Given the description of an element on the screen output the (x, y) to click on. 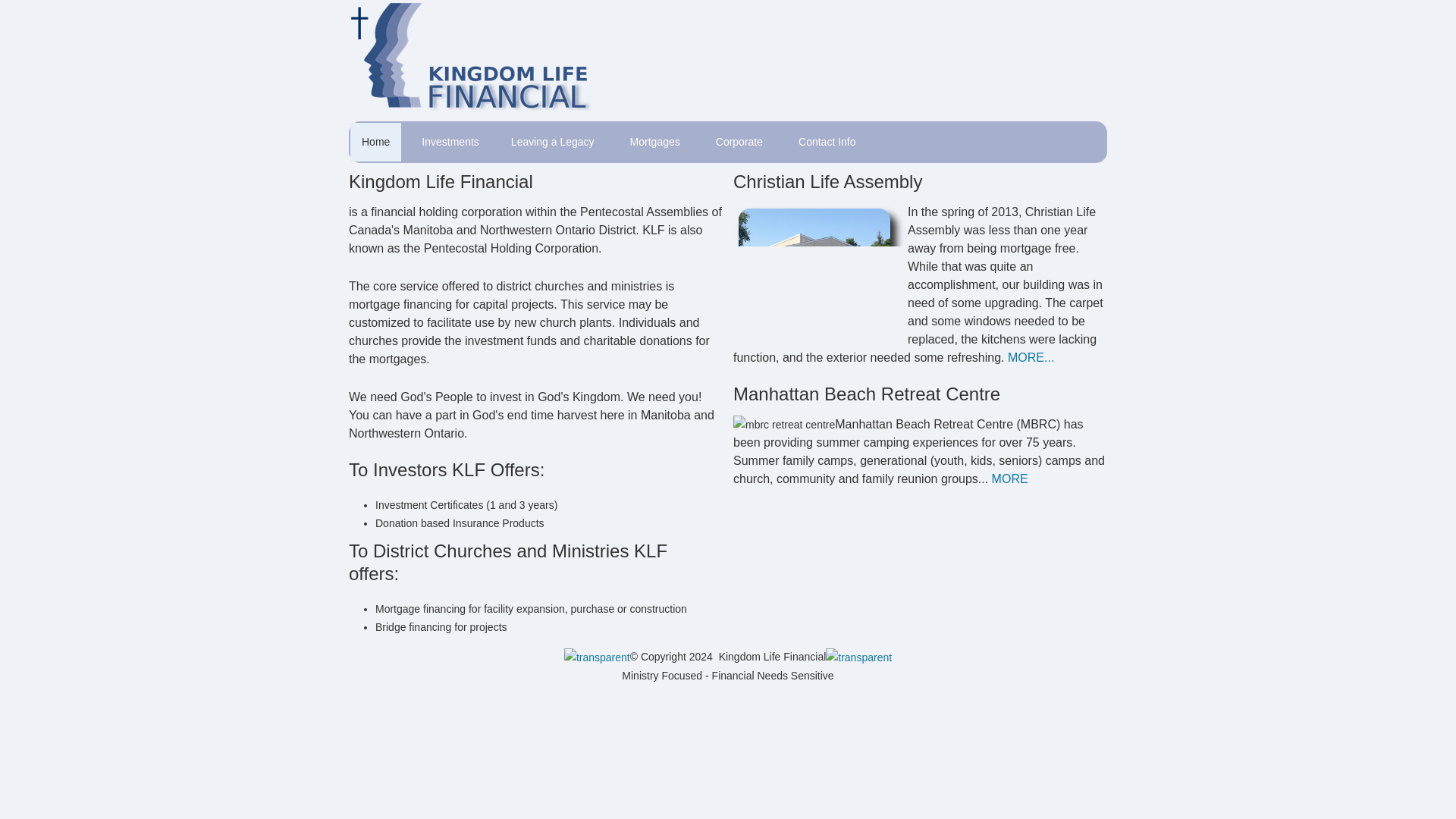
Investments (449, 141)
MORE... (1030, 357)
MORE (1009, 478)
Home (375, 141)
Contact Info (827, 141)
